Given the description of an element on the screen output the (x, y) to click on. 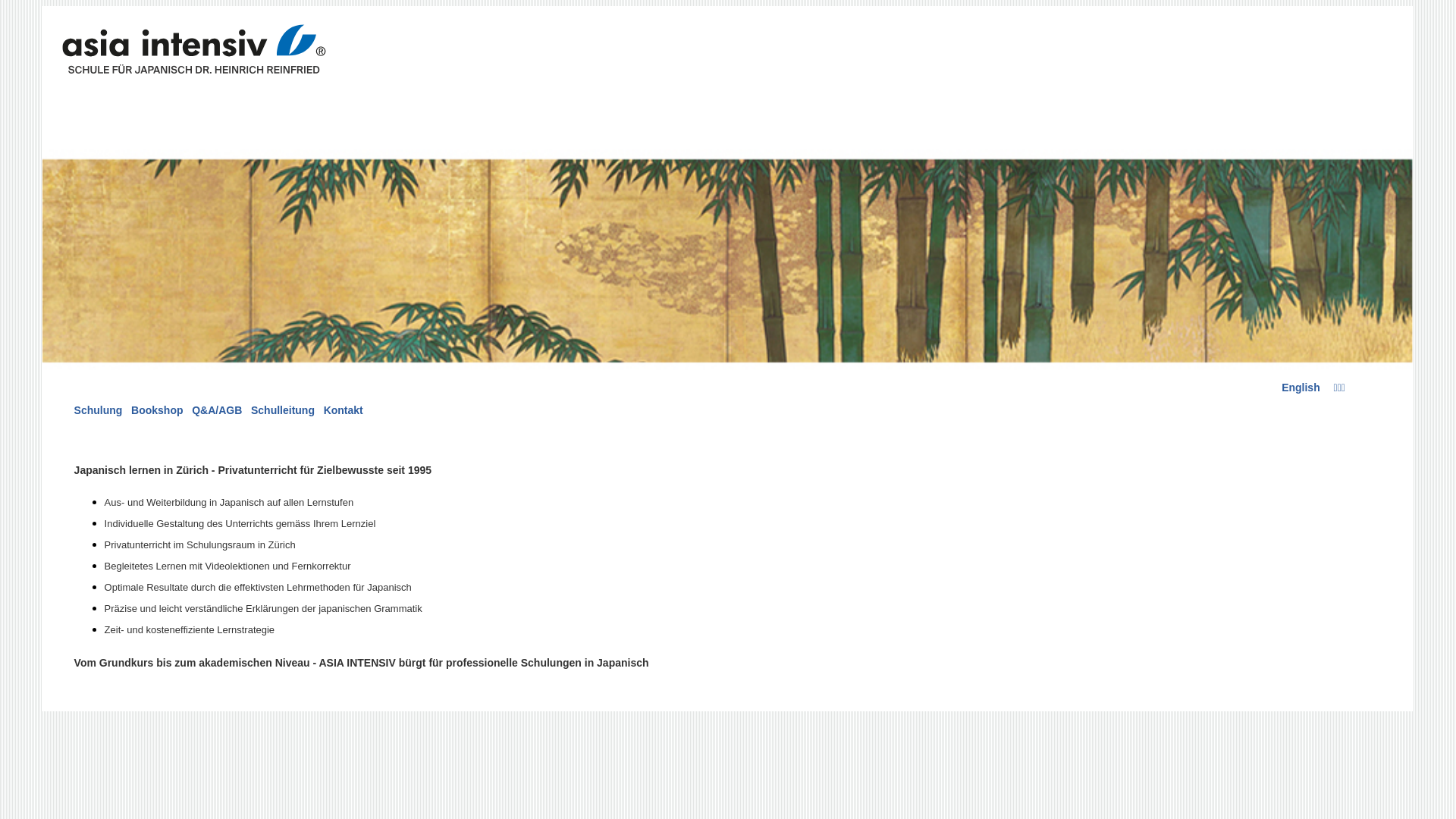
Schulleitung Element type: text (282, 410)
English Element type: text (1300, 387)
Bookshop Element type: text (156, 410)
Kontakt Element type: text (343, 410)
Schulung Element type: text (98, 410)
Q&A/AGB Element type: text (216, 410)
